Given the description of an element on the screen output the (x, y) to click on. 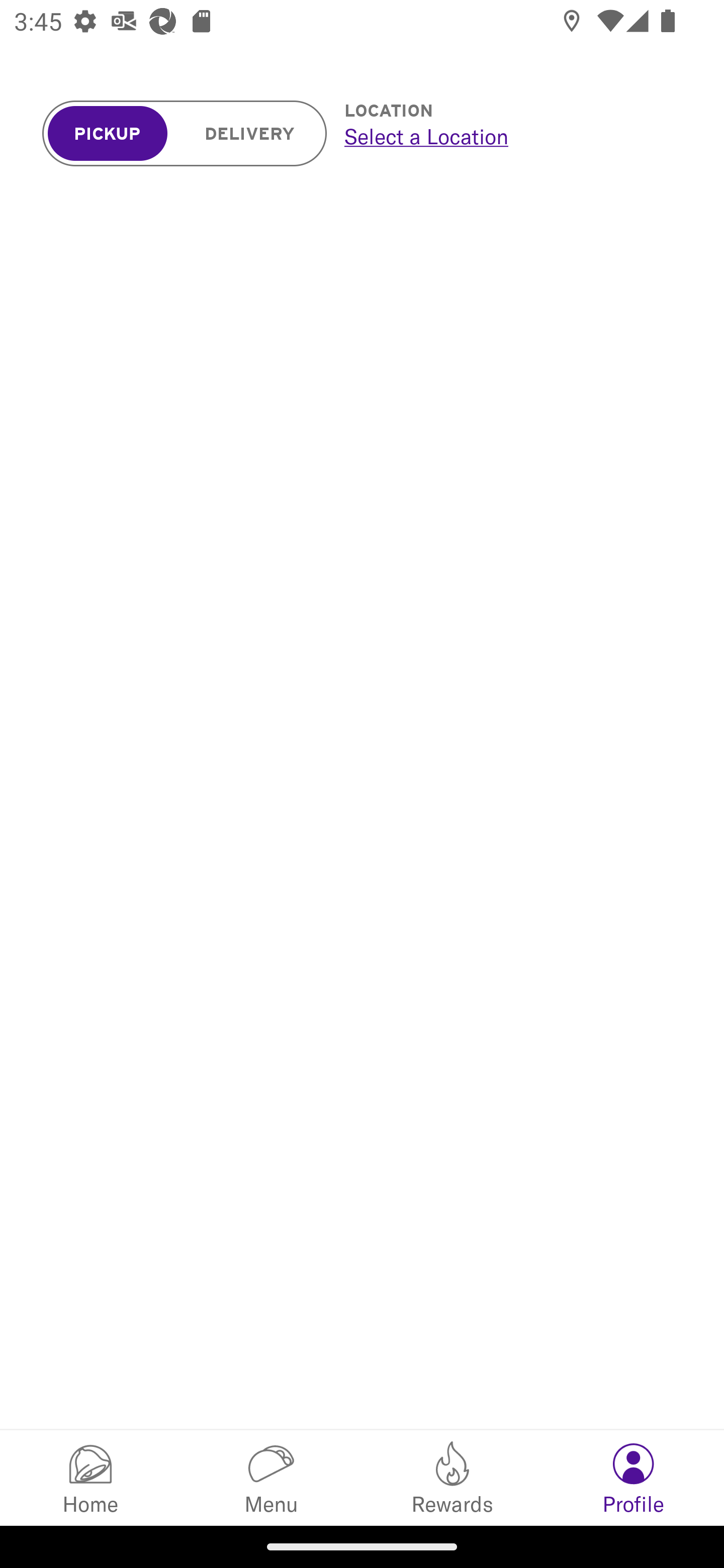
PICKUP (107, 133)
DELIVERY (249, 133)
Select a Location (511, 136)
Home (90, 1476)
Menu (271, 1476)
Rewards (452, 1476)
My Info Profile (633, 1476)
